Given the description of an element on the screen output the (x, y) to click on. 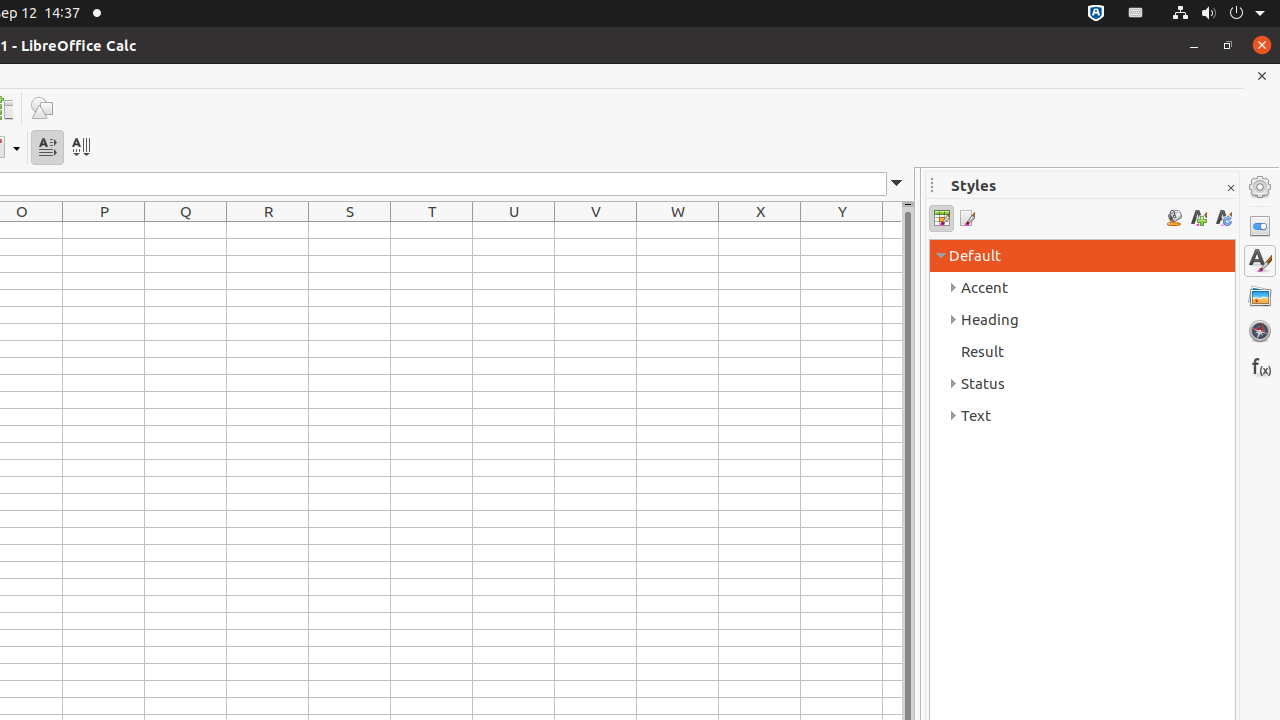
Fill Format Mode Element type: push-button (1173, 218)
Properties Element type: radio-button (1260, 226)
X1 Element type: table-cell (760, 230)
R1 Element type: table-cell (268, 230)
T1 Element type: table-cell (432, 230)
